Given the description of an element on the screen output the (x, y) to click on. 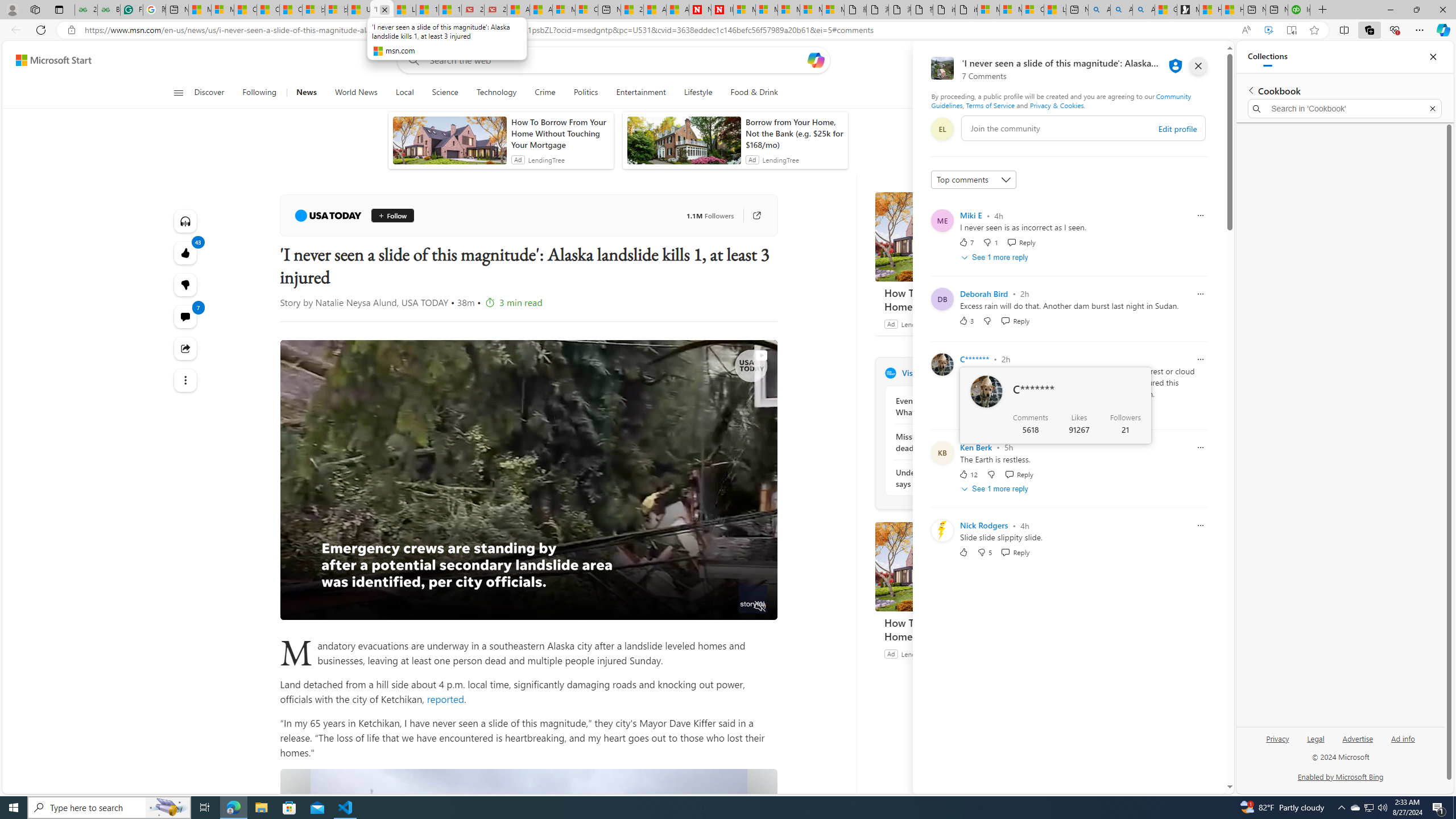
3 Like (965, 320)
Like (962, 552)
Newsweek - News, Analysis, Politics, Business, Technology (700, 9)
 reported (443, 698)
Best SSL Certificates Provider in India - GeeksforGeeks (109, 9)
Class: at-item (184, 380)
Free AI Writing Assistance for Students | Grammarly (131, 9)
